Given the description of an element on the screen output the (x, y) to click on. 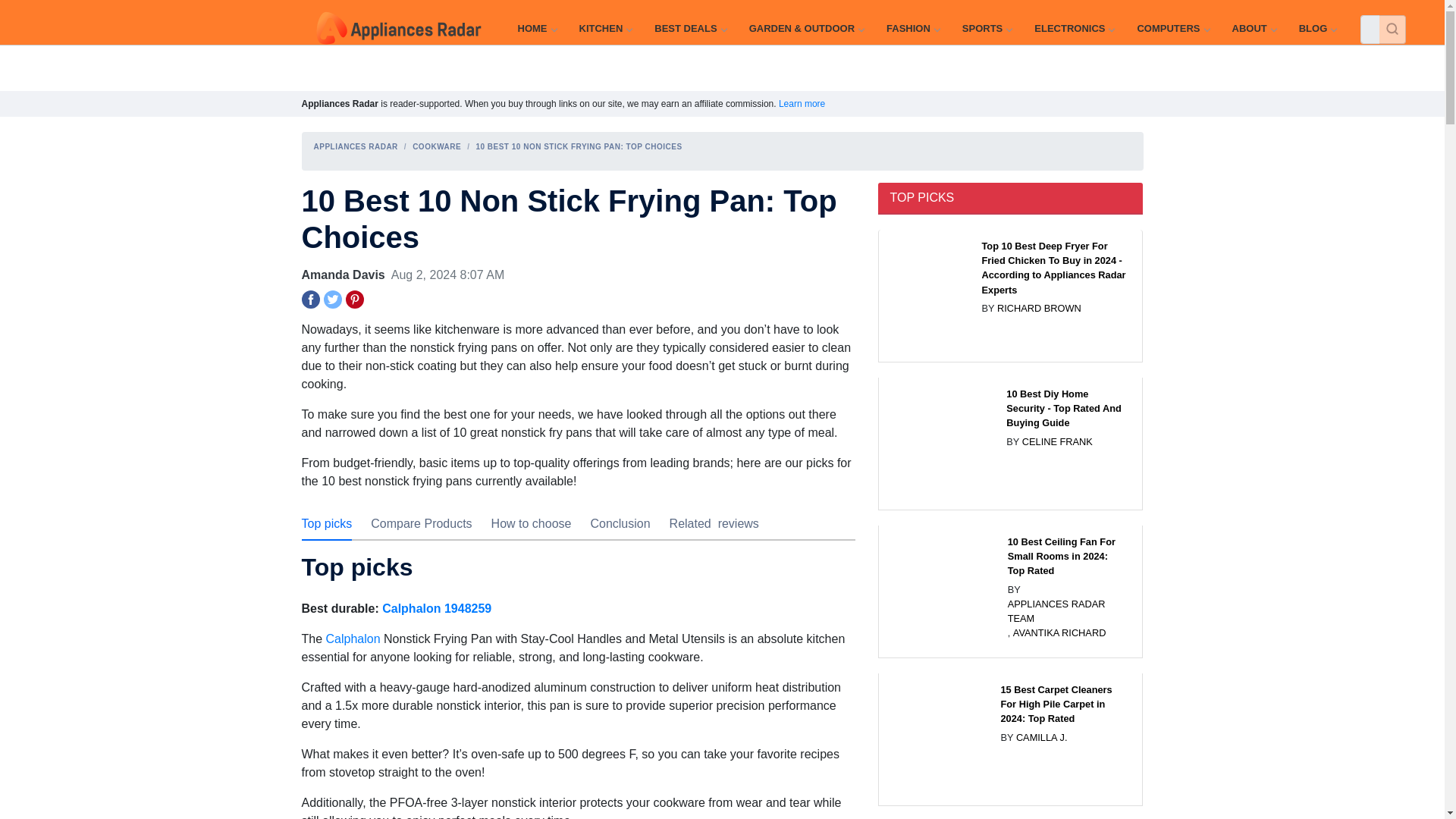
How to choose (532, 523)
Top picks (326, 523)
KITCHEN (605, 28)
Home (536, 28)
Related  reviews (713, 523)
Conclusion (619, 523)
HOME (536, 28)
Compare Products (421, 523)
